Given the description of an element on the screen output the (x, y) to click on. 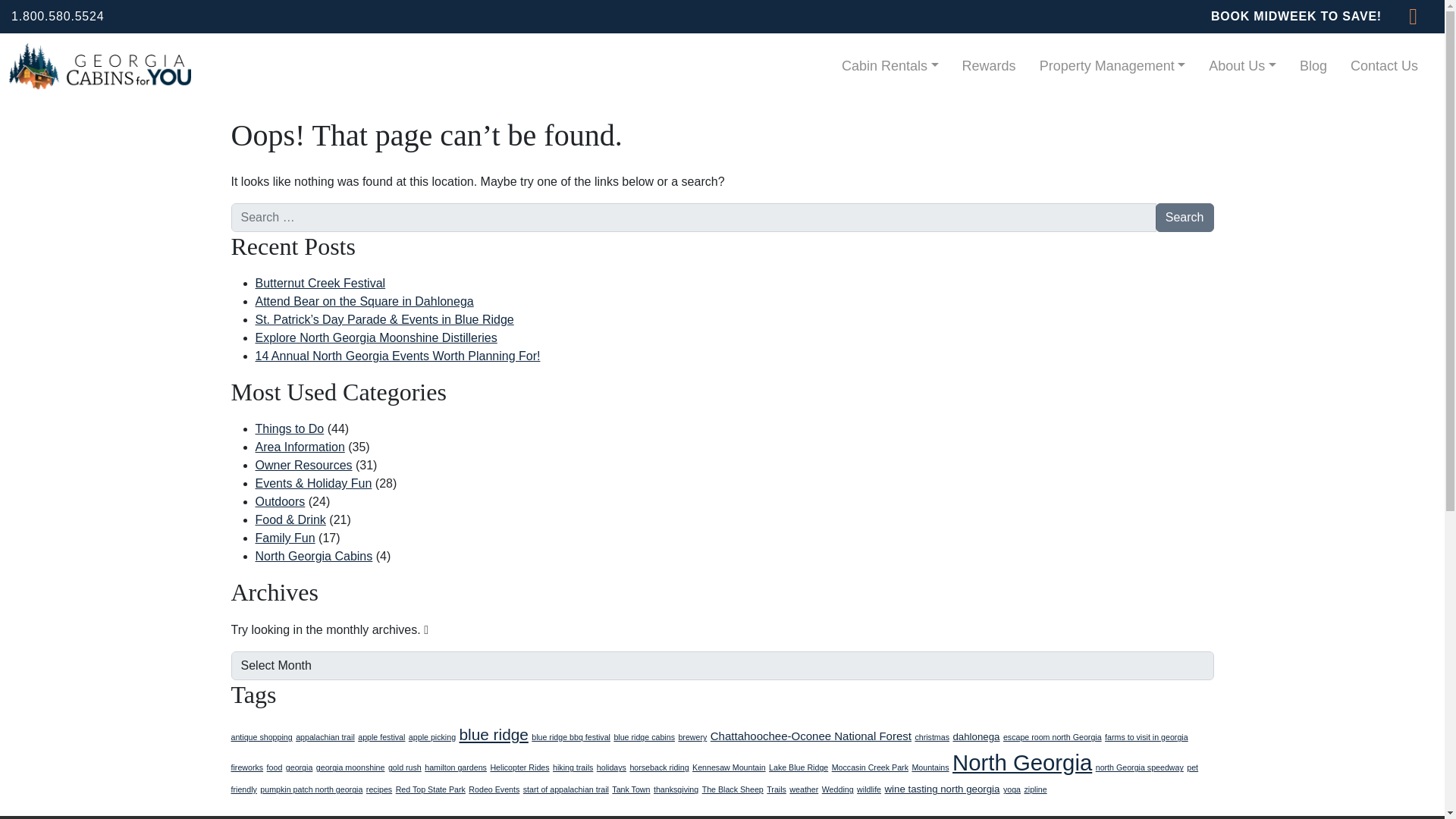
Search (1185, 217)
Blog (1313, 65)
Search (1185, 217)
North Georgia Cabins (313, 555)
1.800.580.5524 (57, 15)
Property Management (1112, 65)
Cabin Rentals (889, 65)
Explore North Georgia Moonshine Distilleries (375, 337)
Things to Do (288, 428)
Property Management (1112, 65)
